Given the description of an element on the screen output the (x, y) to click on. 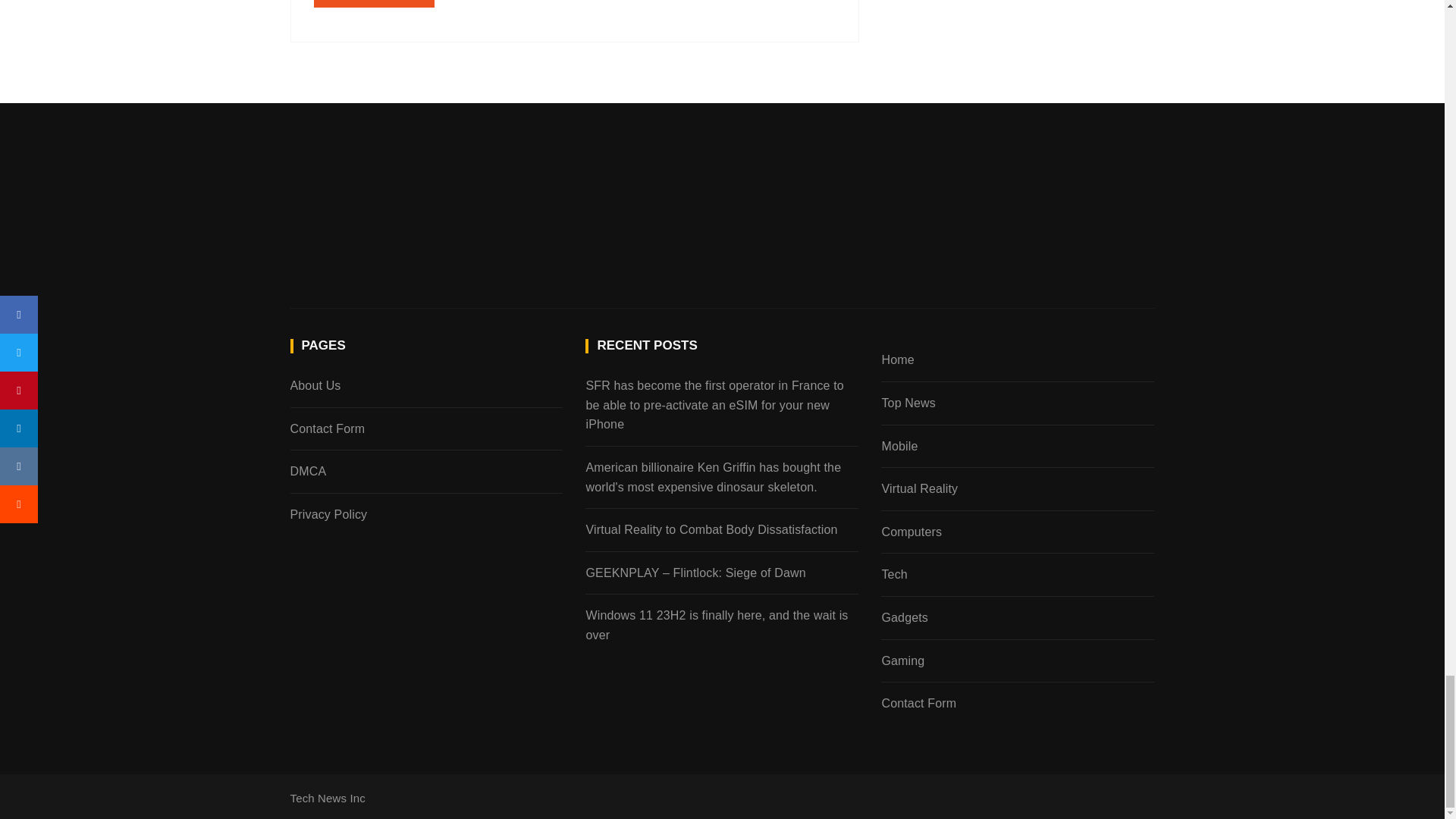
Post Comment (374, 3)
